Given the description of an element on the screen output the (x, y) to click on. 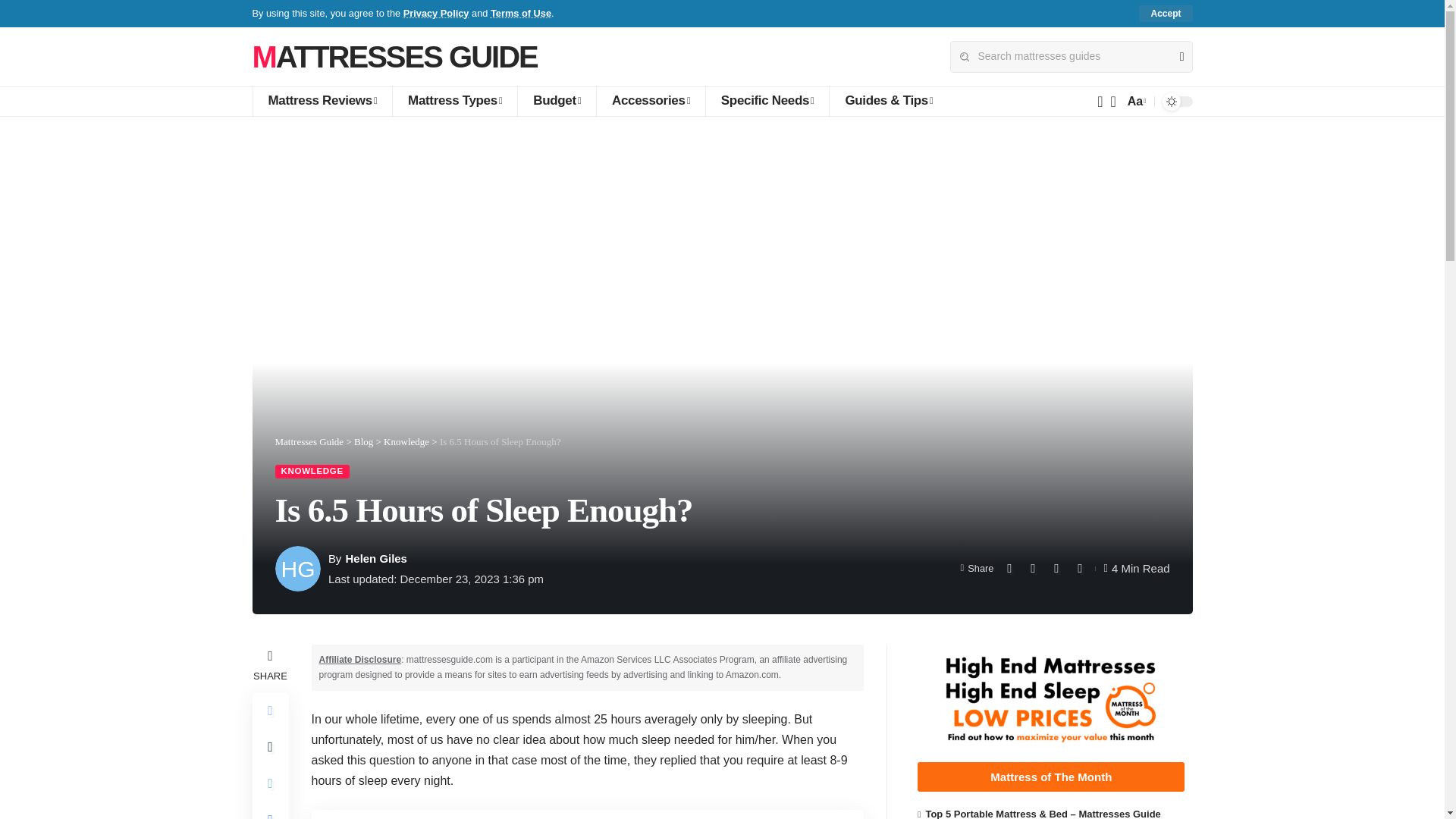
Specific Needs (766, 101)
Accept (1165, 13)
Go to Mattresses Guide. (309, 441)
MATTRESSES GUIDE (394, 56)
Search (1175, 56)
Mattress Reviews (321, 101)
Go to Blog. (362, 441)
Go to the Knowledge Category archives. (406, 441)
Mattresses Guide (394, 56)
Terms of Use (520, 12)
Mattress Types (453, 101)
Budget (555, 101)
Privacy Policy (435, 12)
Accessories (649, 101)
